Given the description of an element on the screen output the (x, y) to click on. 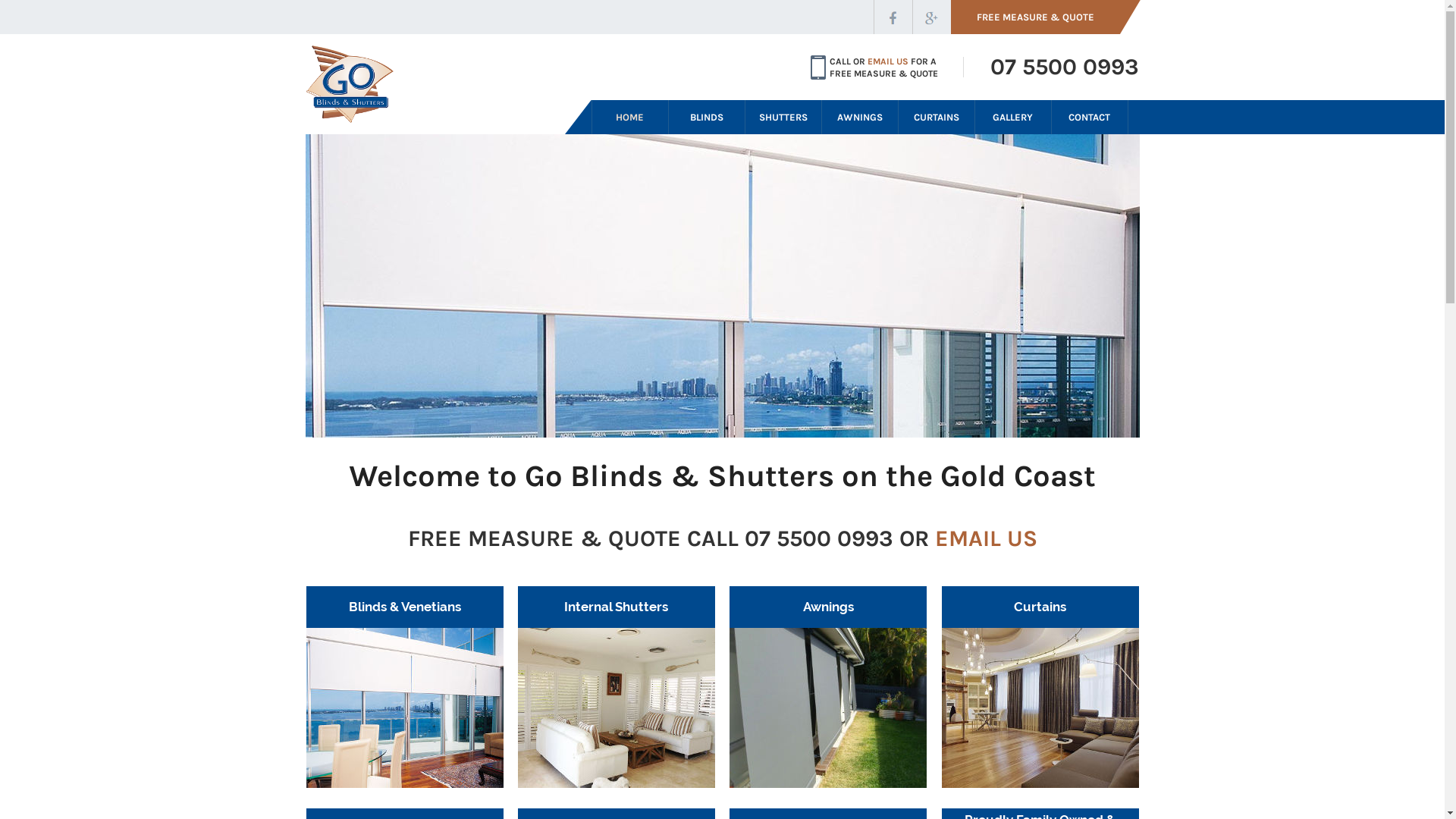
Curtains Element type: text (1040, 686)
CURTAINS Element type: text (935, 117)
HOME Element type: text (629, 117)
Internal Shutters Element type: text (616, 686)
BLINDS Element type: text (706, 117)
GALLERY Element type: text (1012, 117)
Awnings Element type: text (827, 686)
SHUTTERS Element type: text (782, 117)
CONTACT Element type: text (1089, 117)
AWNINGS Element type: text (859, 117)
EMAIL US Element type: text (985, 538)
Blinds & Venetians Element type: text (404, 686)
FREE MEASURE & QUOTE Element type: text (1045, 17)
EMAIL US Element type: text (887, 61)
